Given the description of an element on the screen output the (x, y) to click on. 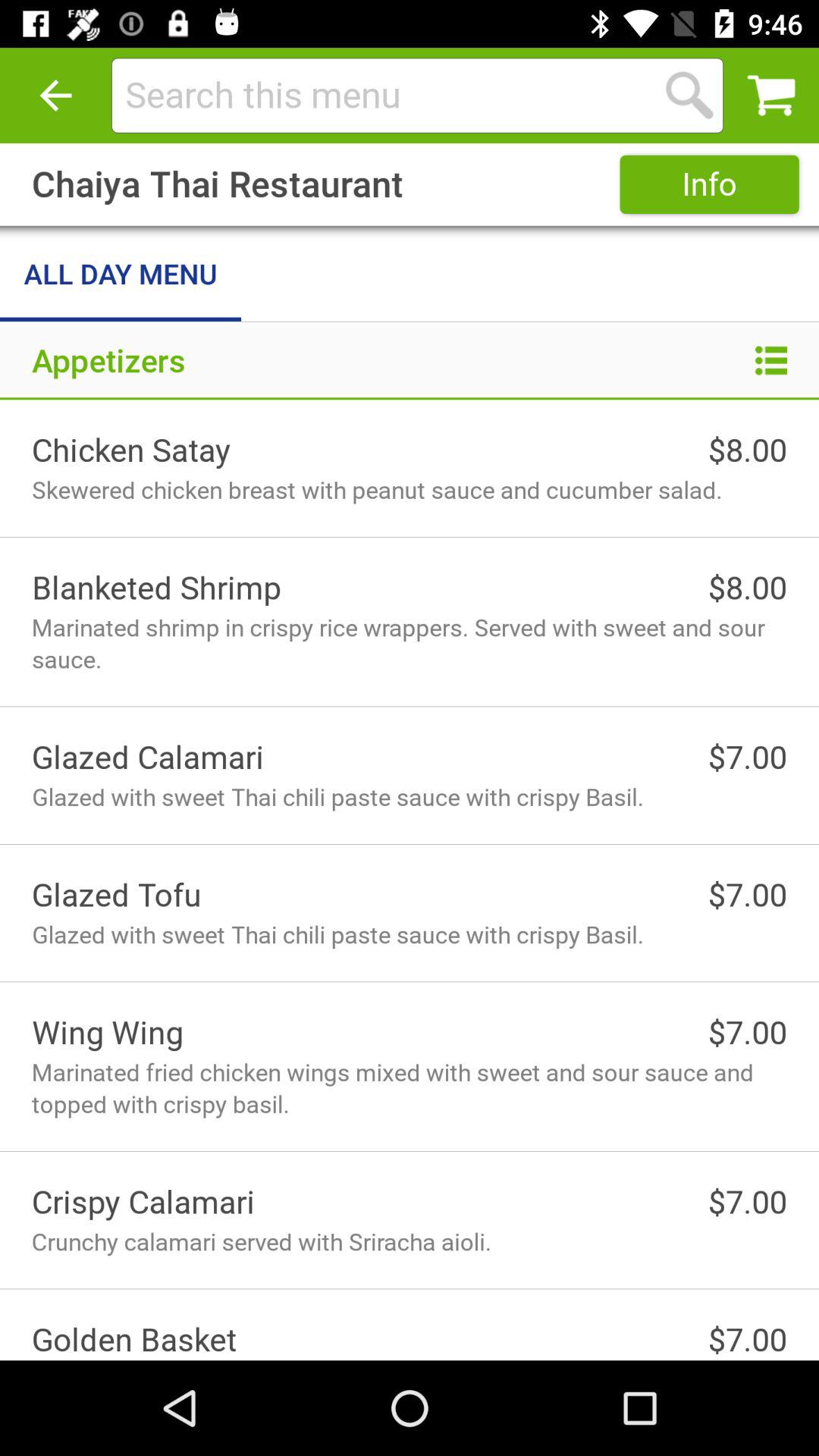
turn on item above the chaiya thai restaurant icon (55, 95)
